Given the description of an element on the screen output the (x, y) to click on. 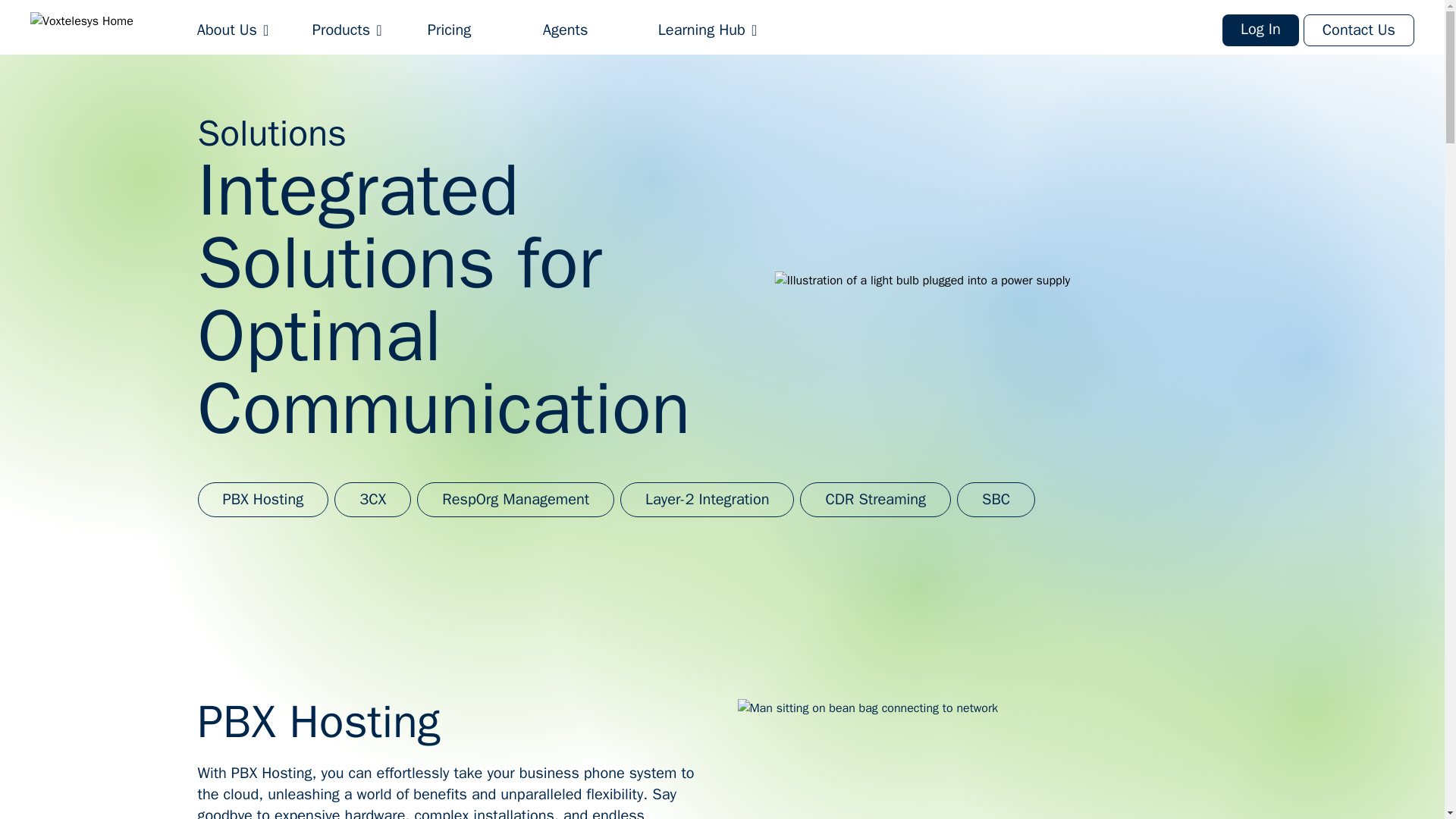
RespOrg Management (515, 499)
Log In (1260, 29)
Layer-2 Integration (706, 499)
CDR Streaming (874, 499)
3CX (372, 499)
Agents (565, 30)
SBC (995, 499)
Pricing (449, 30)
PBX Hosting (262, 499)
Contact Us (1358, 29)
